Given the description of an element on the screen output the (x, y) to click on. 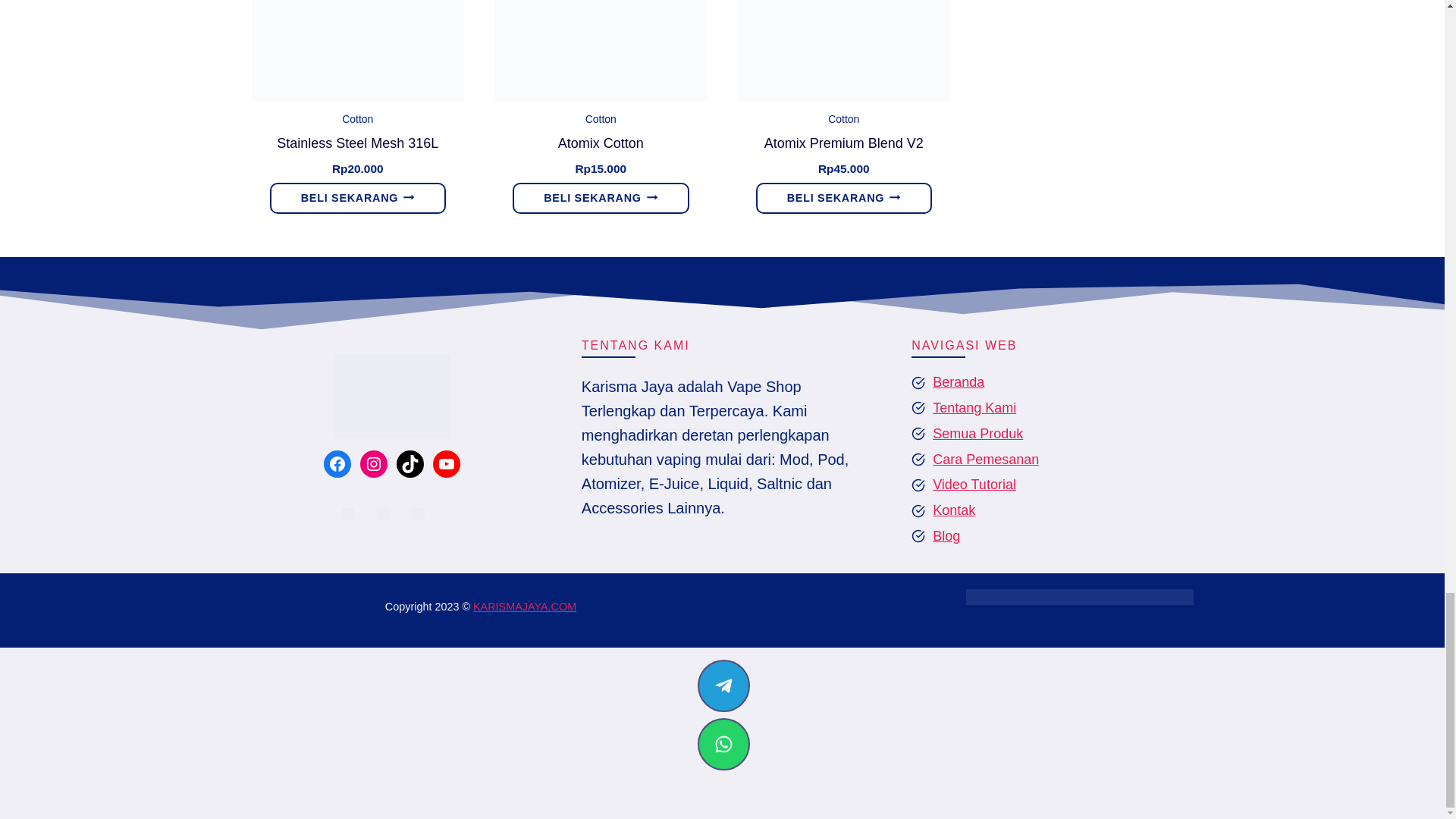
logo bank (1079, 596)
karismajayavapor (391, 396)
